Given the description of an element on the screen output the (x, y) to click on. 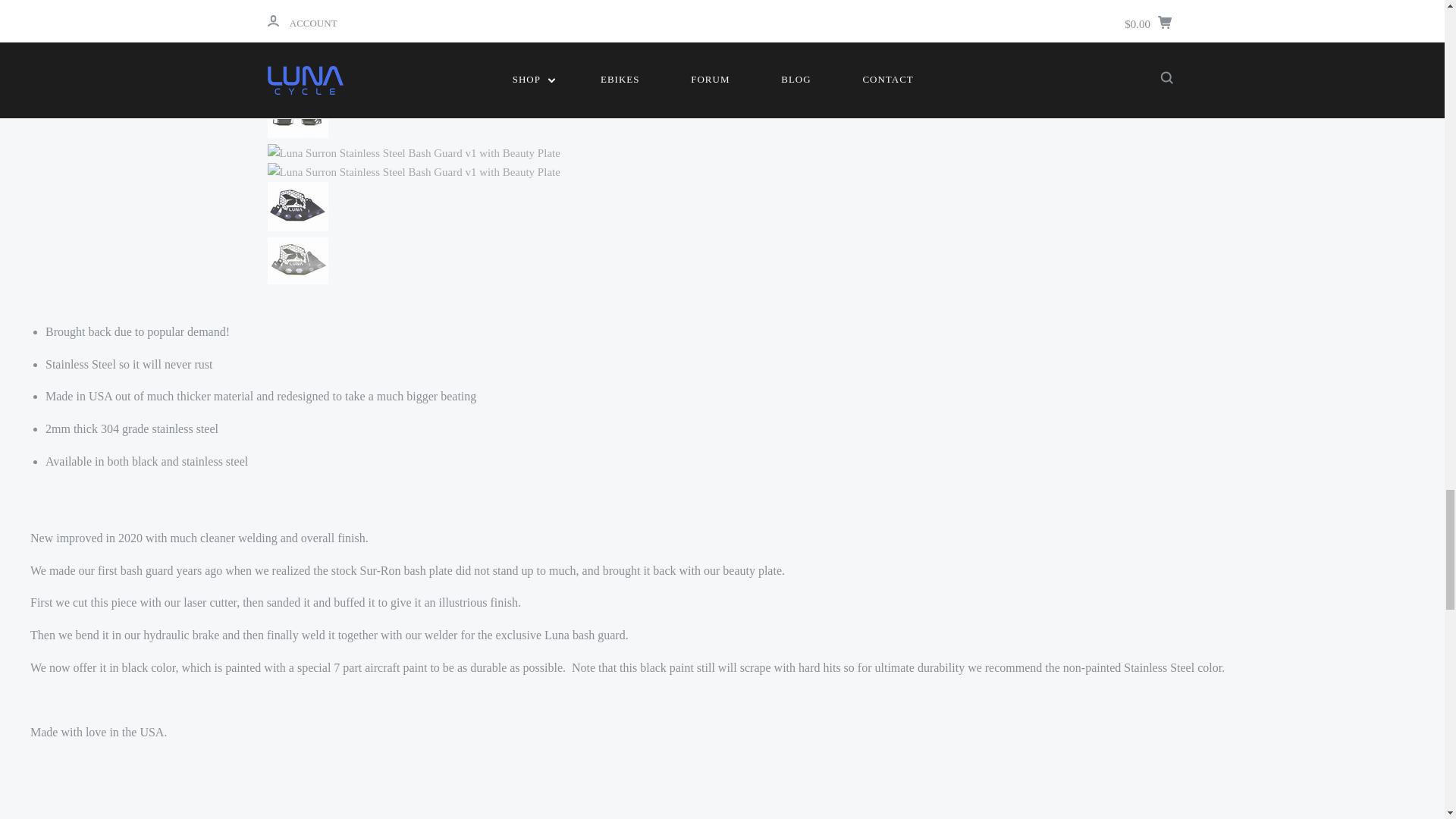
Luna Surron Stainless Steel Bash Guard v1 with Beauty Plate (296, 117)
Luna Surron Stainless Steel Bash Guard v1 with Beauty Plate (296, 260)
Luna Surron Stainless Steel Bash Guard v1 with Beauty Plate (412, 22)
Luna Surron Stainless Steel Bash Guard v1 with Beauty Plate (296, 70)
Luna Surron Stainless Steel Bash Guard v1 with Beauty Plate (296, 3)
Luna Surron Stainless Steel Bash Guard v1 with Beauty Plate (296, 205)
Luna Surron Stainless Steel Bash Guard v1 with Beauty Plate (412, 153)
Luna Surron Stainless Steel Bash Guard v1 with Beauty Plate (412, 171)
Luna Surron Stainless Steel Bash Guard v1 with Beauty Plate (412, 40)
